Given the description of an element on the screen output the (x, y) to click on. 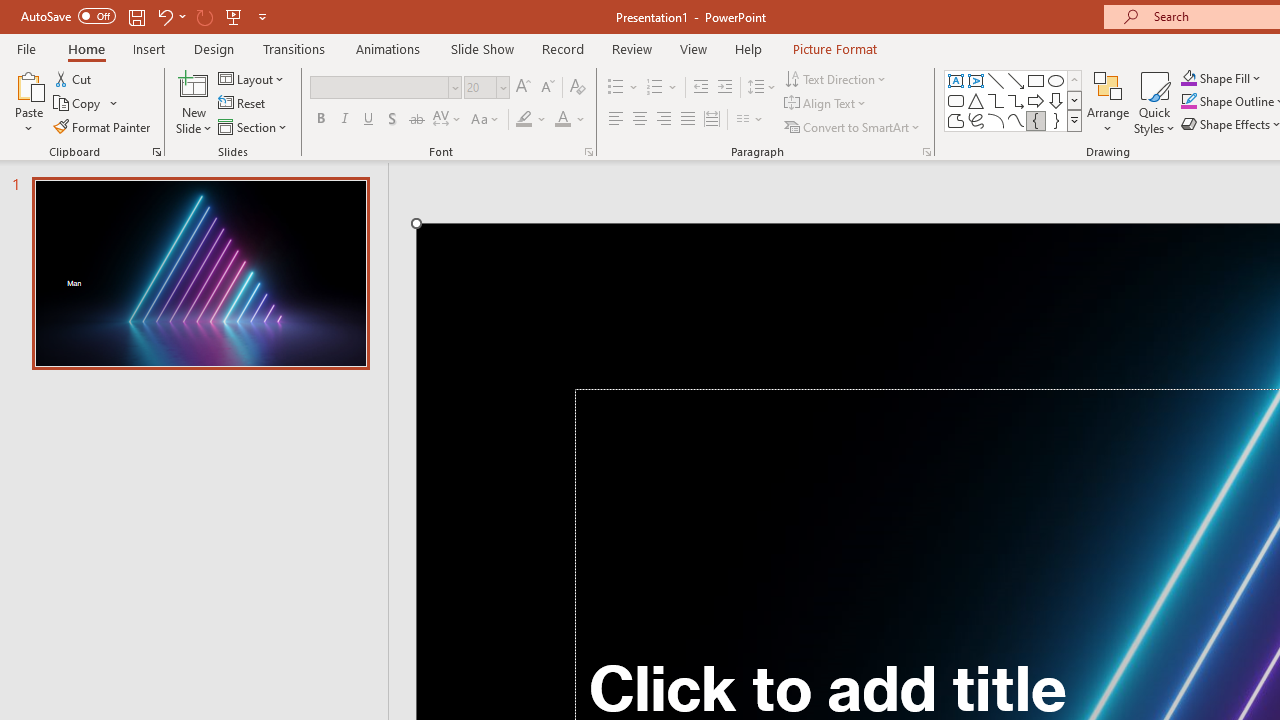
Picture Format (834, 48)
